Given the description of an element on the screen output the (x, y) to click on. 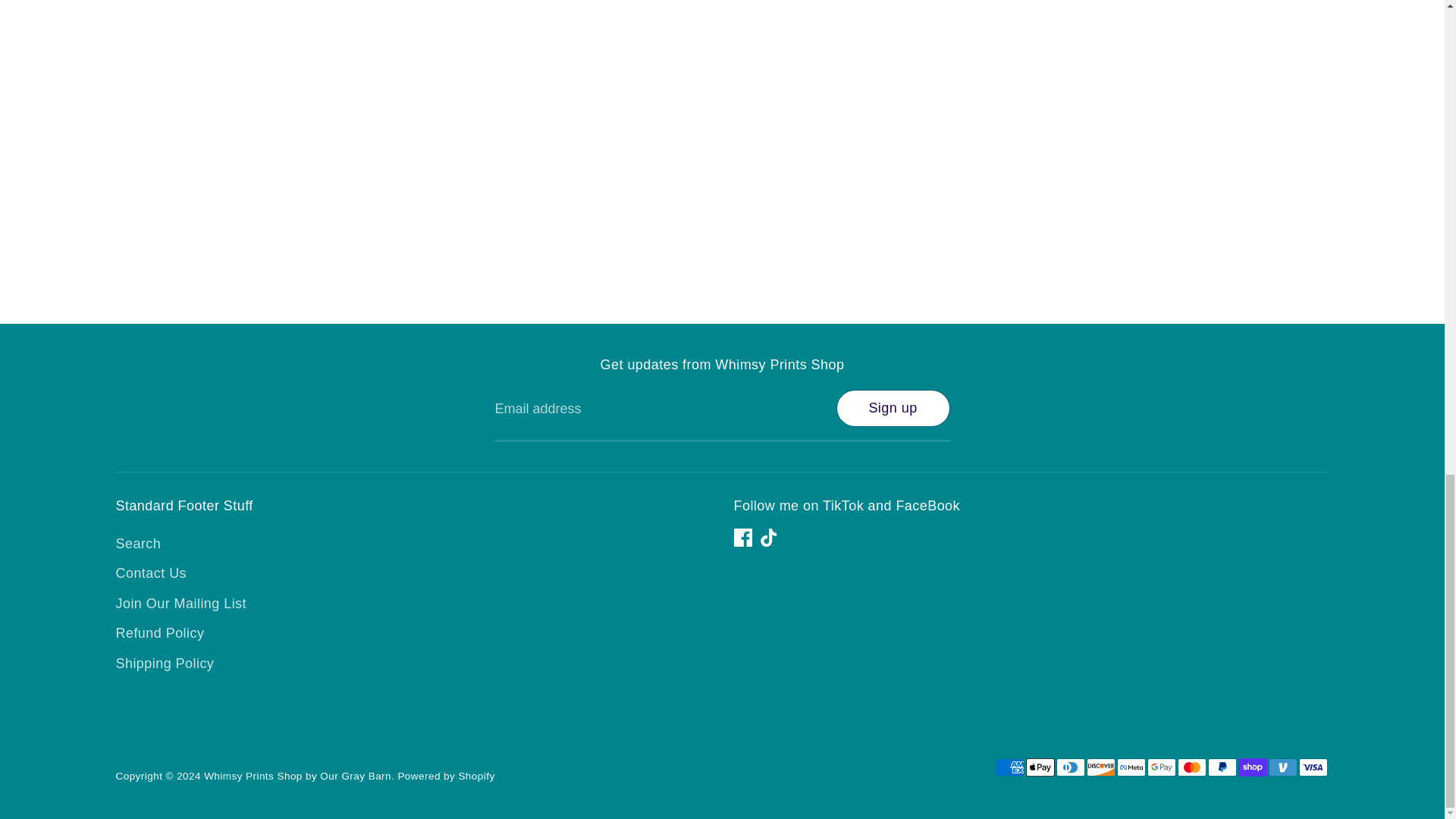
American Express (1008, 767)
Apple Pay (1039, 767)
Diners Club (1069, 767)
